Given the description of an element on the screen output the (x, y) to click on. 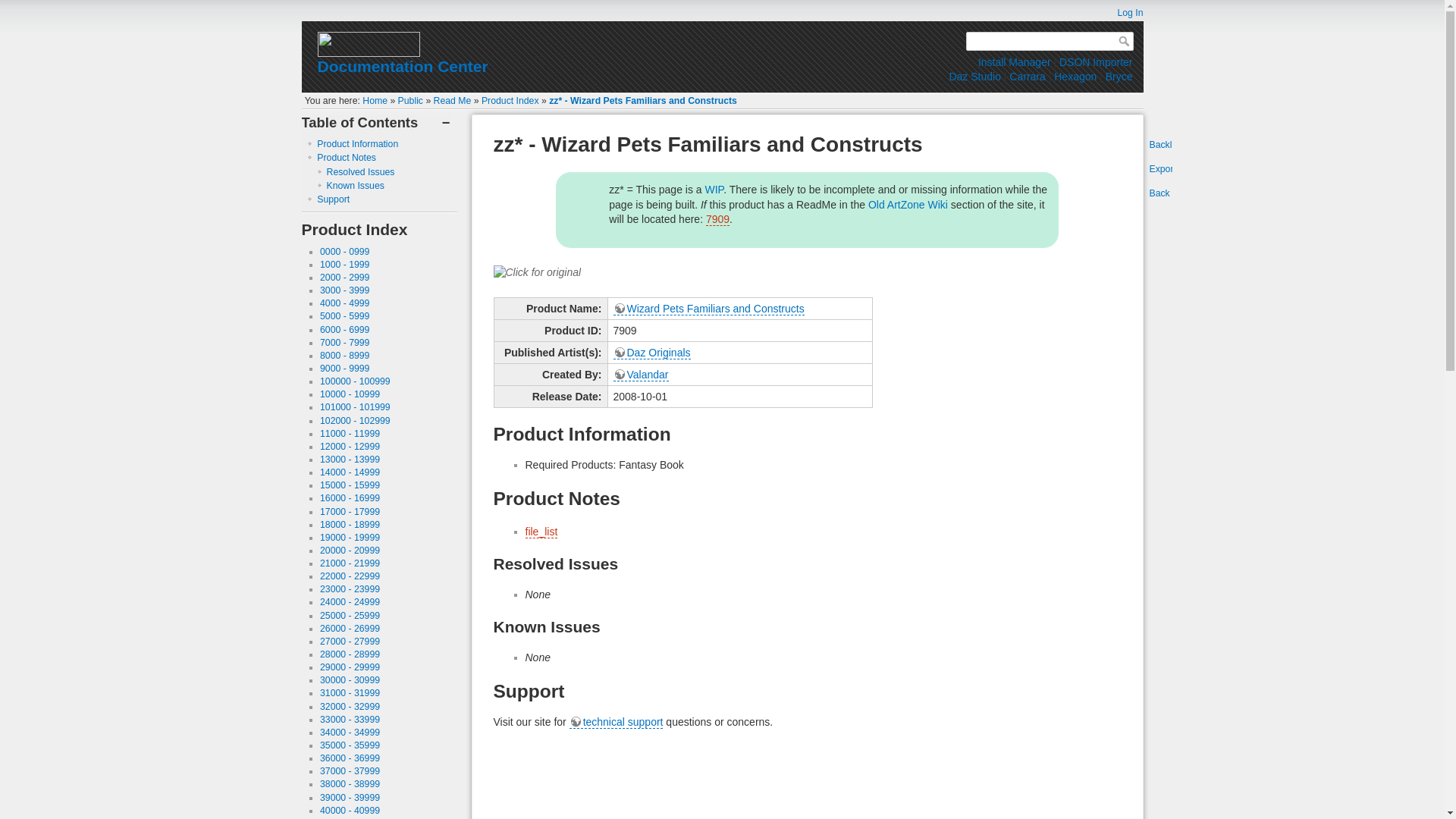
13000 - 13999 (350, 459)
Resolved Issues (360, 172)
12000 - 12999 (350, 446)
start (374, 100)
10000 - 10999 (350, 394)
Documentation Center (402, 66)
9000 - 9999 (344, 368)
Log In (1122, 12)
7000 - 7999 (344, 342)
5000 - 5999 (344, 316)
